Given the description of an element on the screen output the (x, y) to click on. 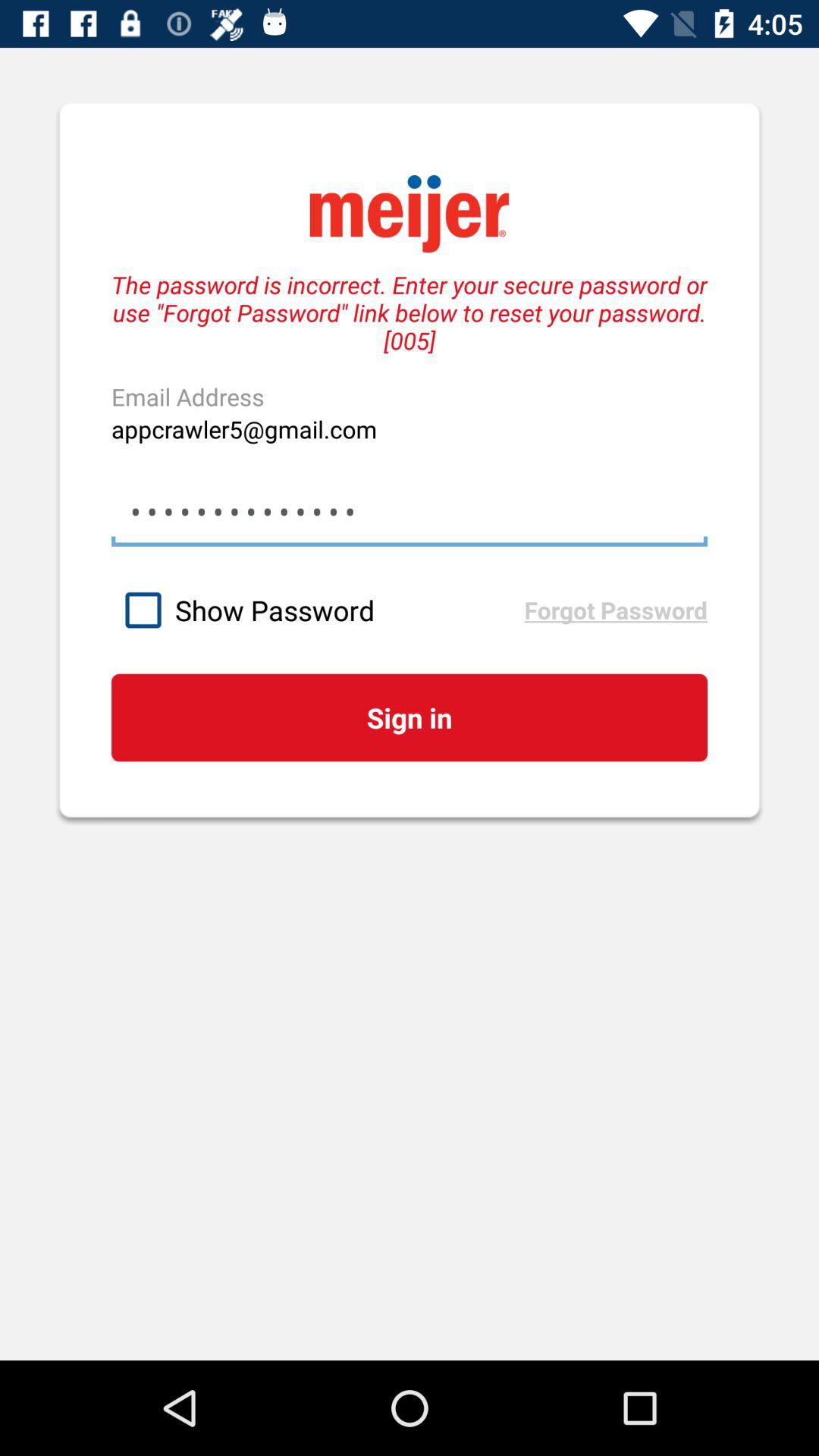
launch the item below the appcrawler3116 (317, 610)
